Given the description of an element on the screen output the (x, y) to click on. 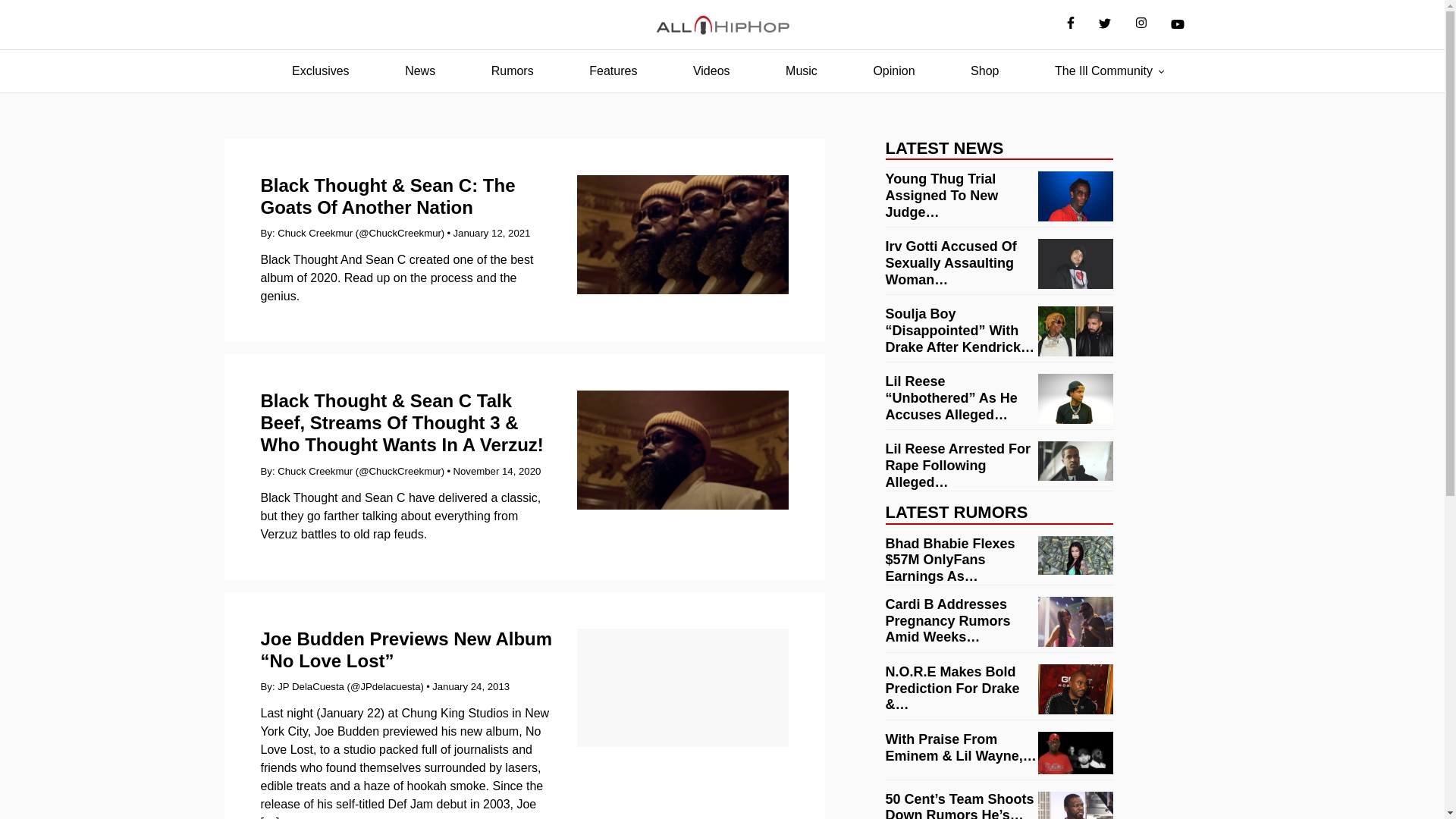
News (419, 70)
Shop (984, 70)
Music (801, 70)
Exclusives (320, 70)
The Ill Community (1103, 70)
January 12, 2021 (490, 233)
Rumors (512, 70)
Features (612, 70)
Videos (711, 70)
Opinion (893, 70)
AllHipHop (722, 25)
